Given the description of an element on the screen output the (x, y) to click on. 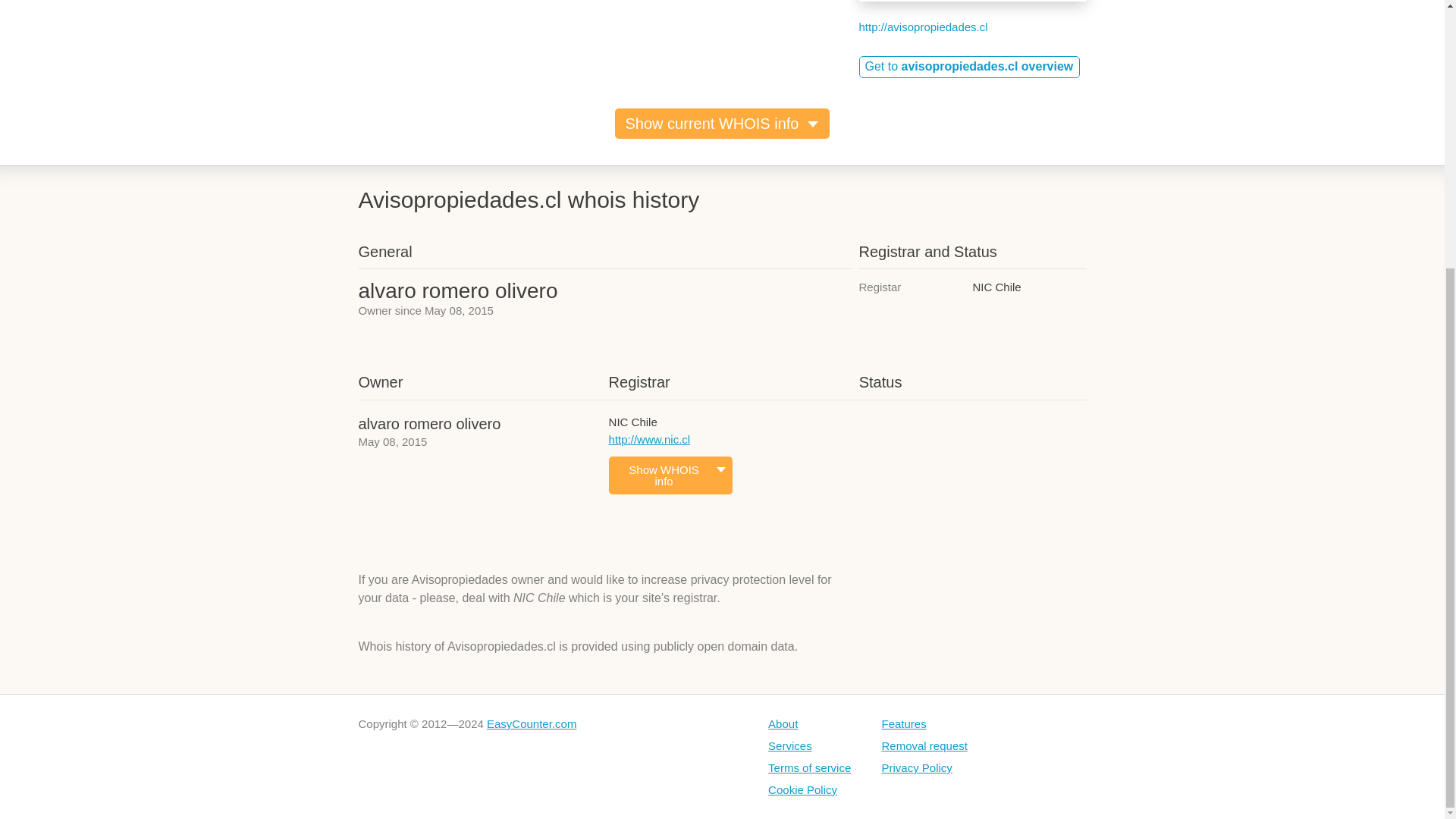
Show WHOIS info (670, 475)
Get to avisopropiedades.cl overview (969, 66)
EasyCounter.com (531, 723)
Terms of service (810, 767)
About (810, 723)
Services (810, 745)
Show current WHOIS info (721, 123)
Privacy Policy (923, 767)
Get to avisopropiedades.cl overview (969, 66)
Cookie Policy (810, 789)
Removal request (923, 745)
Features (923, 723)
